Given the description of an element on the screen output the (x, y) to click on. 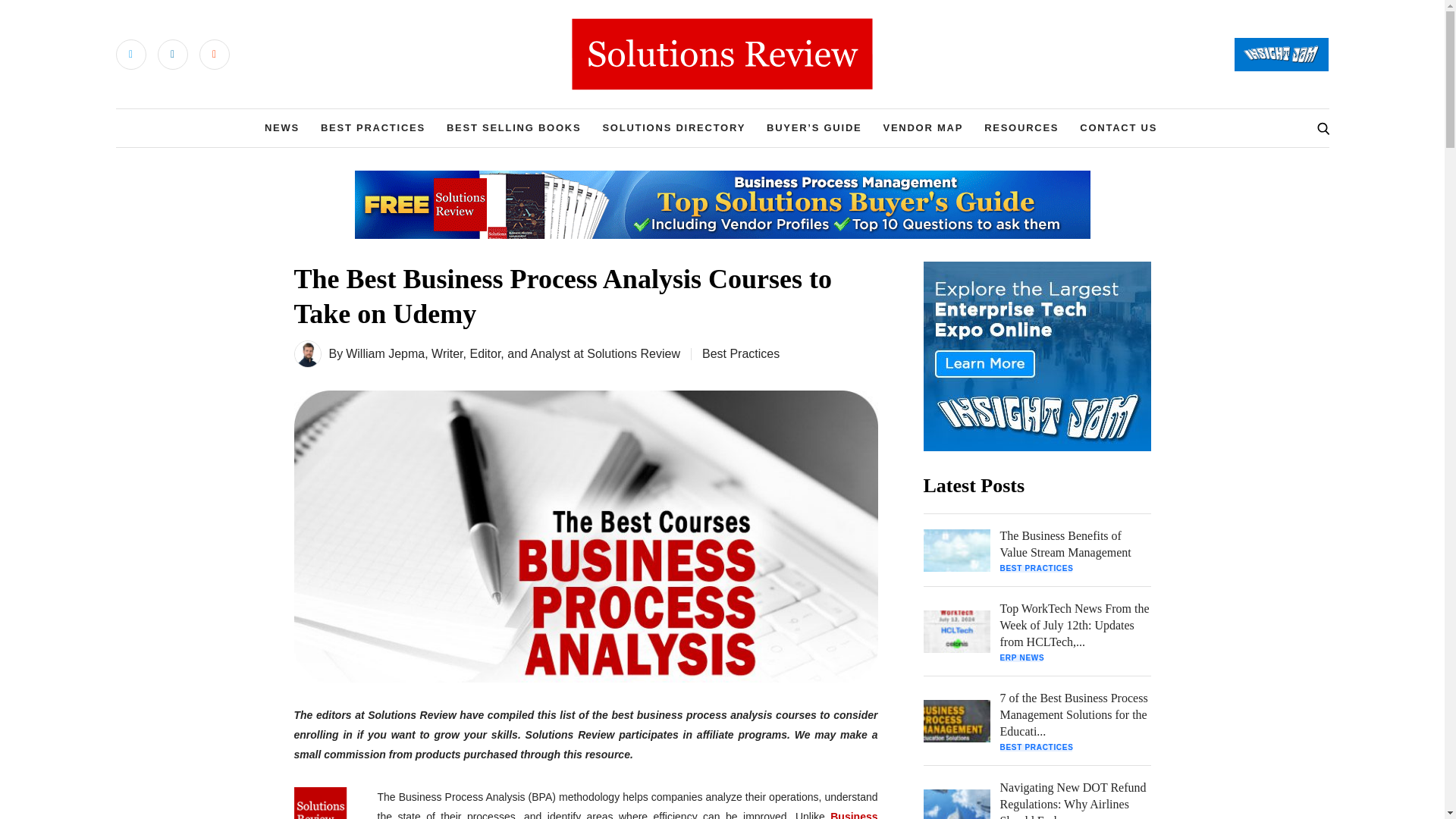
Insight Jam Ad (1037, 356)
VENDOR MAP (922, 127)
Best Practices (739, 353)
BEST PRACTICES (372, 127)
NEWS (281, 127)
SOLUTIONS DIRECTORY (673, 127)
CONTACT US (1118, 127)
BEST SELLING BOOKS (513, 127)
William Jepma (385, 353)
RESOURCES (1021, 127)
